Given the description of an element on the screen output the (x, y) to click on. 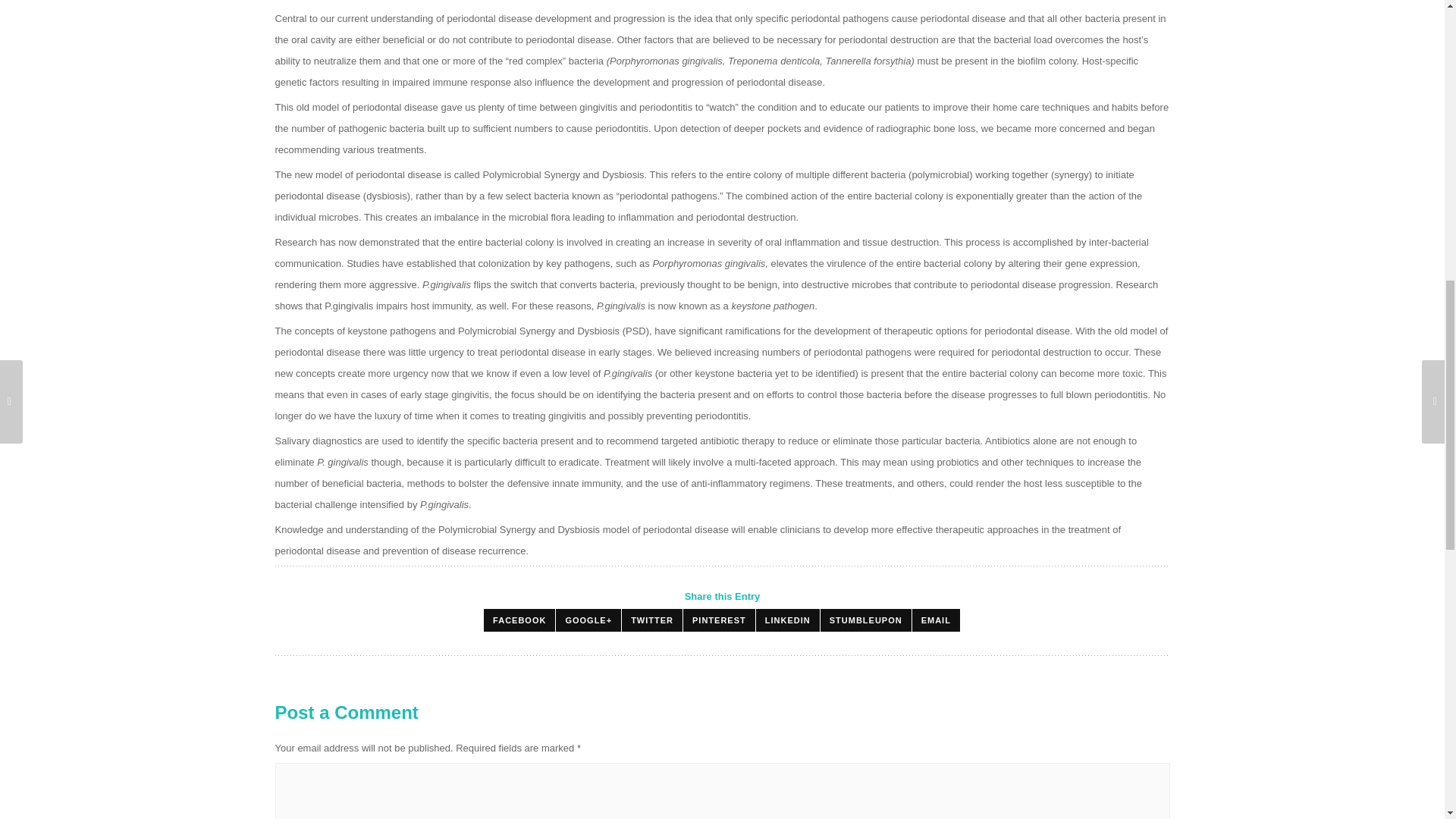
PINTEREST (718, 620)
FACEBOOK (518, 620)
LINKEDIN (787, 620)
TWITTER (651, 620)
EMAIL (935, 620)
STUMBLEUPON (866, 620)
